Given the description of an element on the screen output the (x, y) to click on. 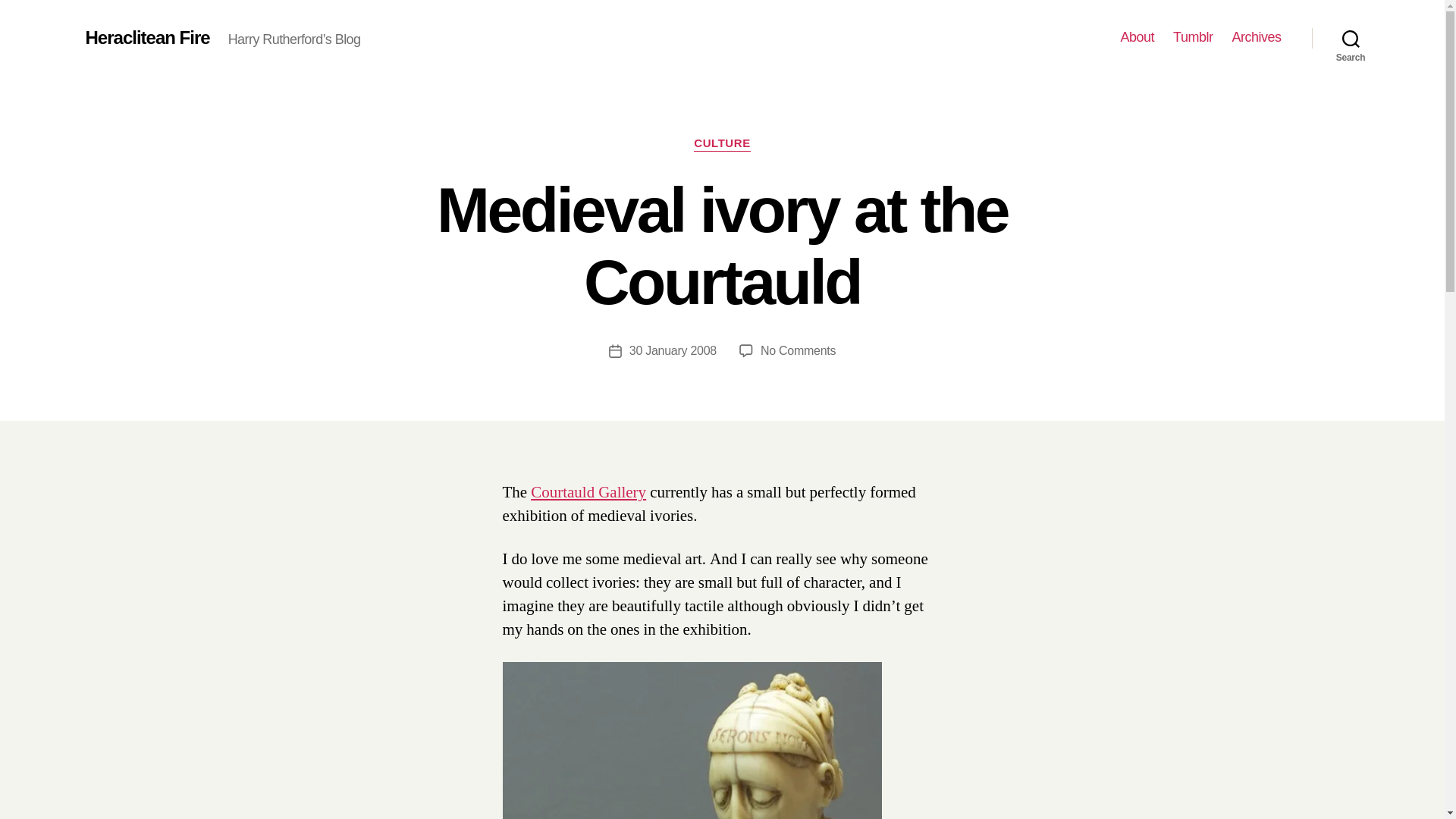
Search (797, 350)
Tumblr (1350, 37)
Heraclitean Fire (1192, 37)
Archives (146, 37)
CULTURE (1256, 37)
Courtauld Gallery (721, 143)
30 January 2008 (588, 492)
About (672, 350)
